Given the description of an element on the screen output the (x, y) to click on. 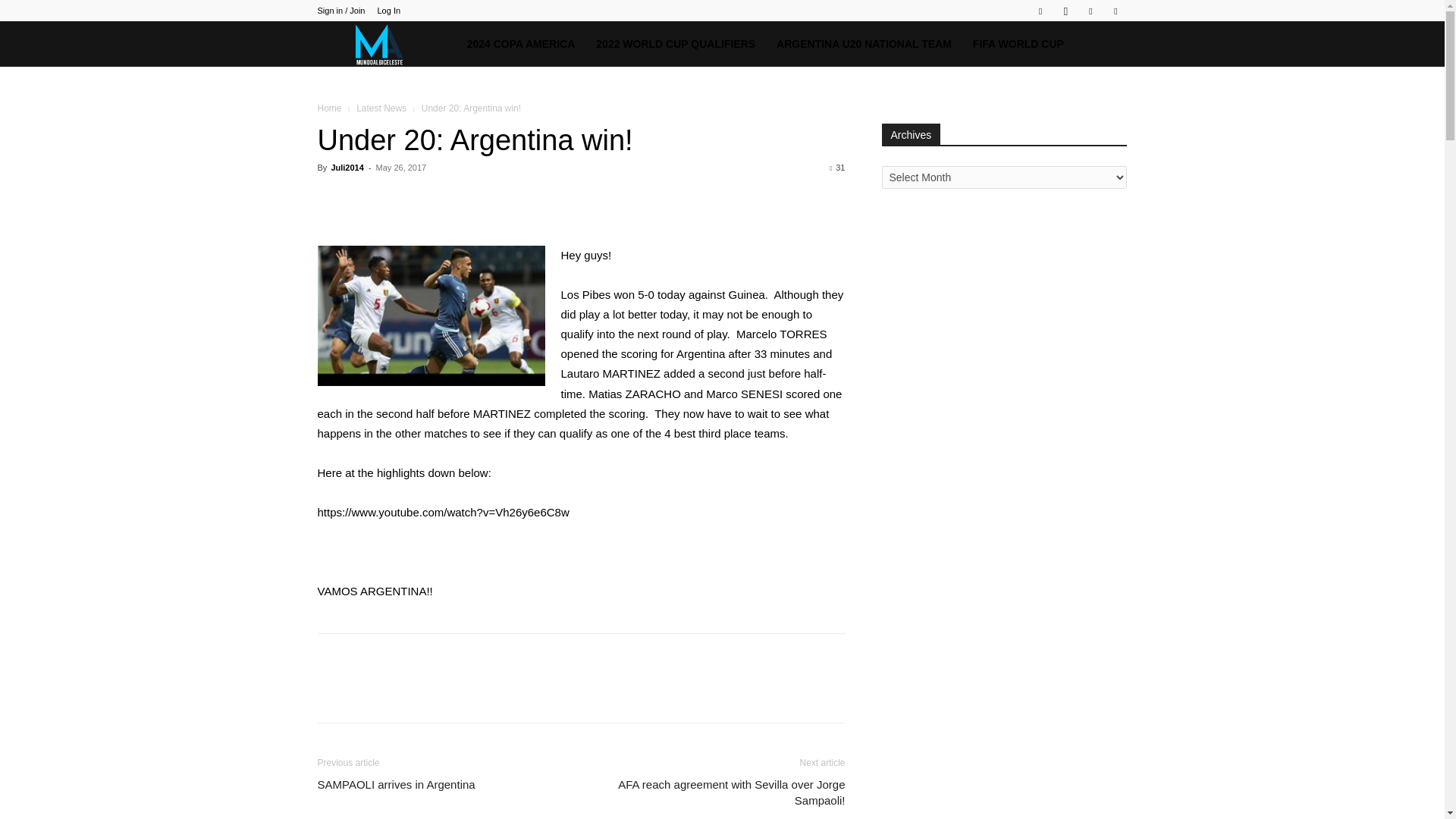
Log In (388, 10)
Twitter (1090, 10)
Facebook (1040, 10)
31 (837, 166)
Mundo Albiceleste (386, 44)
Latest News (381, 108)
ARGENTINA U20 NATIONAL TEAM (863, 43)
Juli2014 (346, 166)
2024 COPA AMERICA (521, 43)
View all posts in Latest News (381, 108)
Home (328, 108)
FIFA WORLD CUP (1018, 43)
2022 WORLD CUP QUALIFIERS (675, 43)
Instagram (1065, 10)
Youtube (1114, 10)
